Given the description of an element on the screen output the (x, y) to click on. 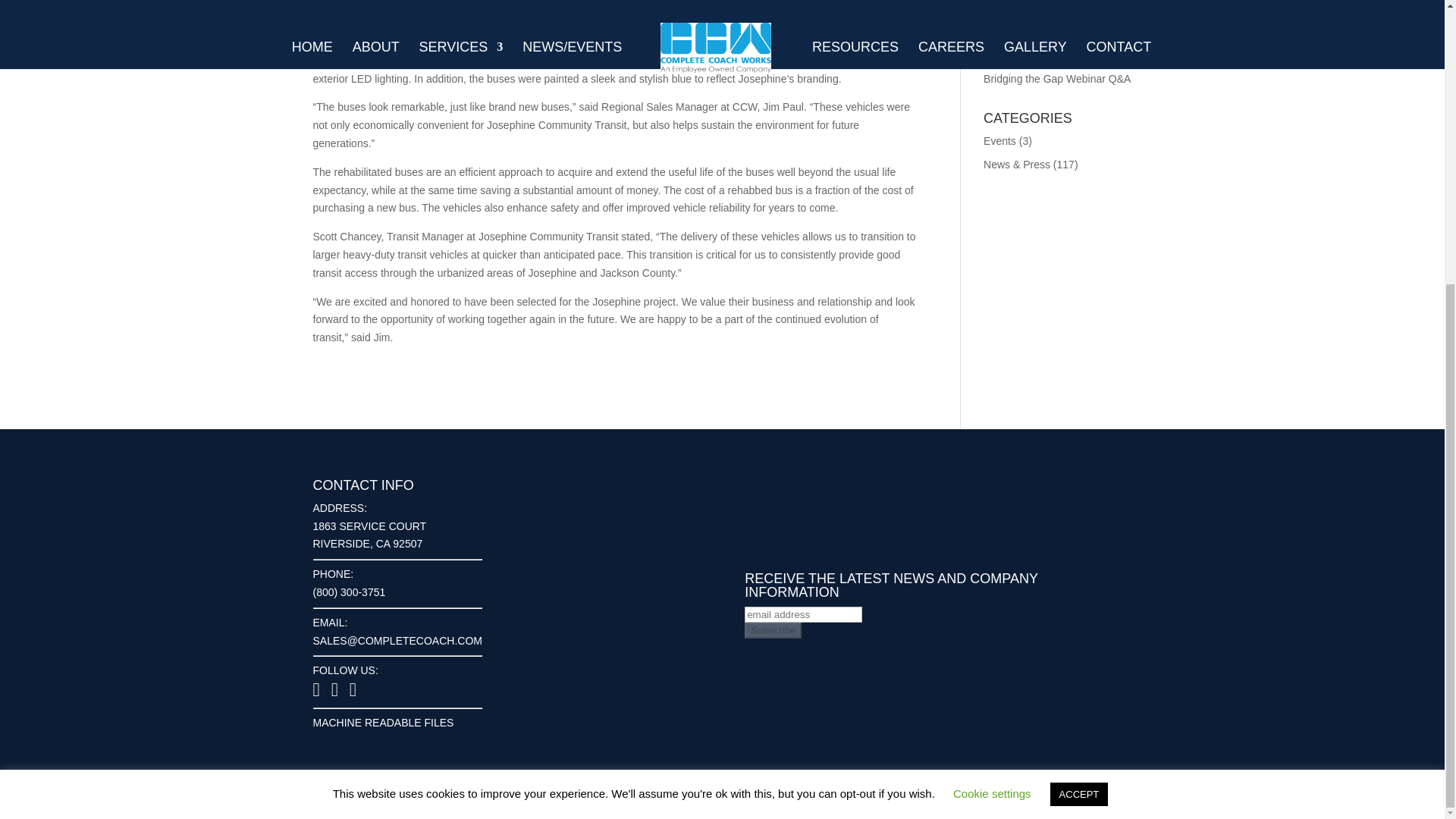
Subscribe (773, 630)
Events (1000, 141)
Subscribe (773, 630)
PRIVACY POLICY (1087, 798)
MACHINE READABLE FILES (382, 722)
